Given the description of an element on the screen output the (x, y) to click on. 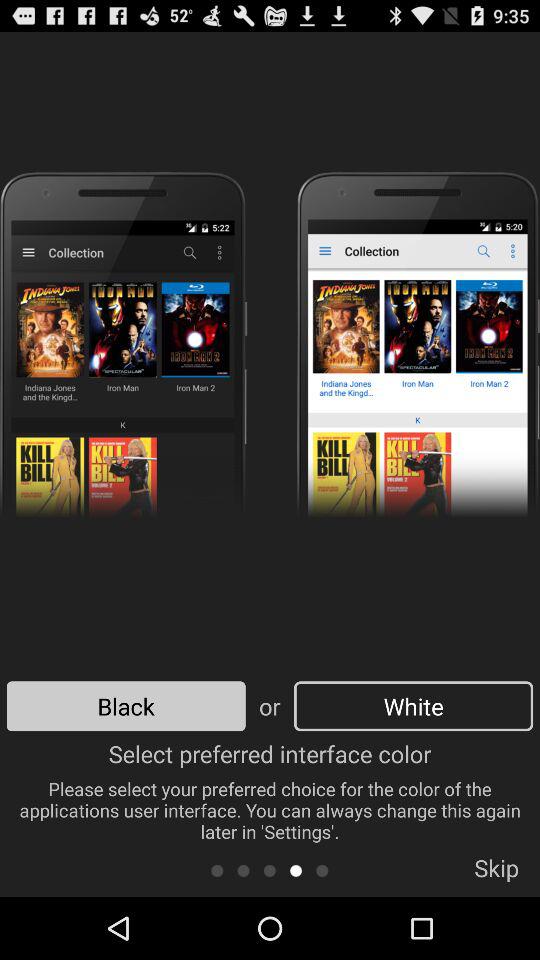
go to previous (321, 870)
